Given the description of an element on the screen output the (x, y) to click on. 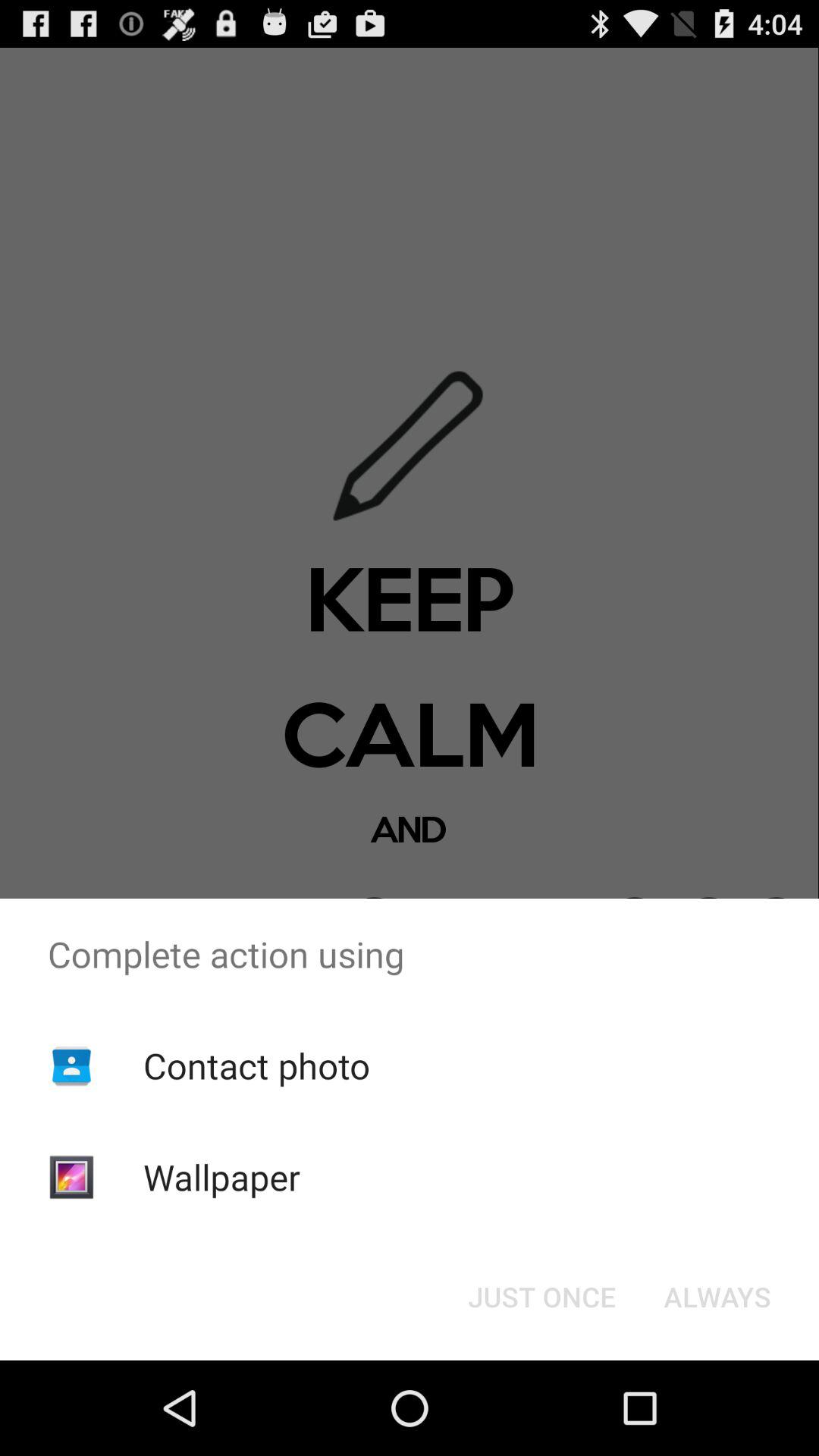
choose always button (717, 1296)
